Given the description of an element on the screen output the (x, y) to click on. 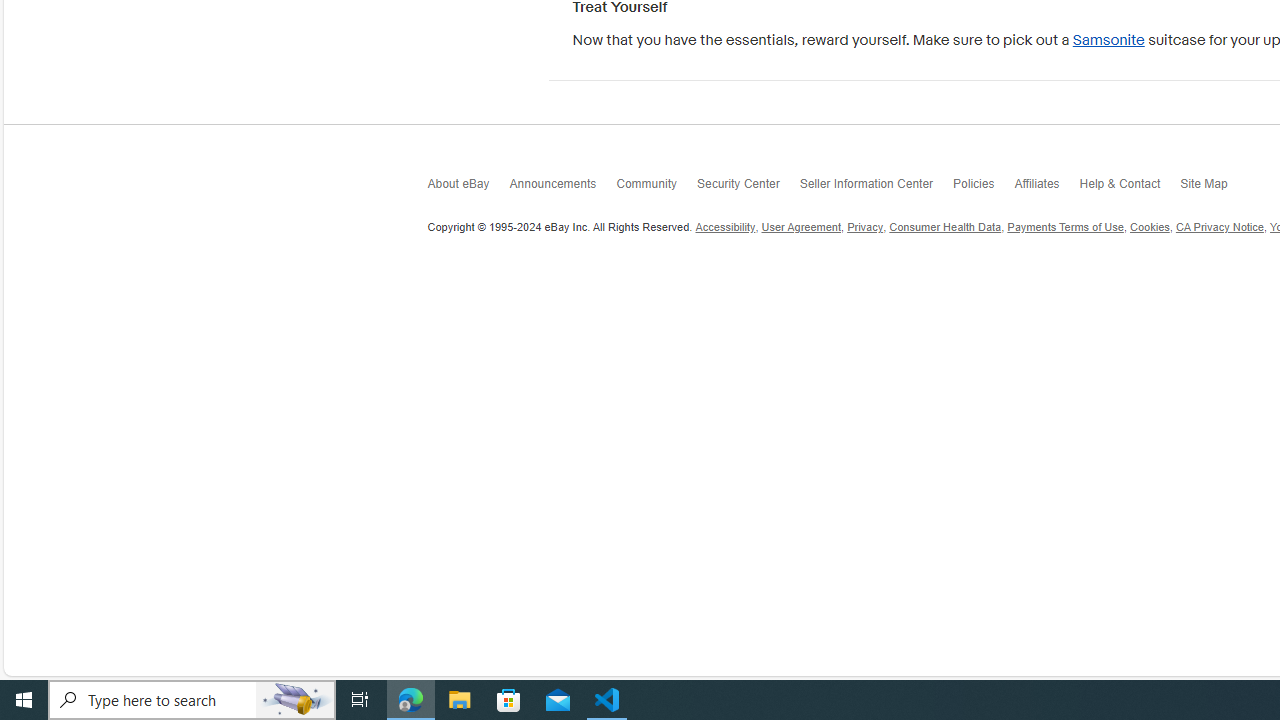
About eBay (468, 187)
Help & Contact (1130, 187)
Policies (984, 187)
CA Privacy Notice (1219, 227)
Seller Information Center (875, 188)
Payments Terms of Use (1065, 227)
User Agreement (800, 227)
Samsonite (1108, 39)
Announcements (562, 188)
Security Center (748, 188)
